Given the description of an element on the screen output the (x, y) to click on. 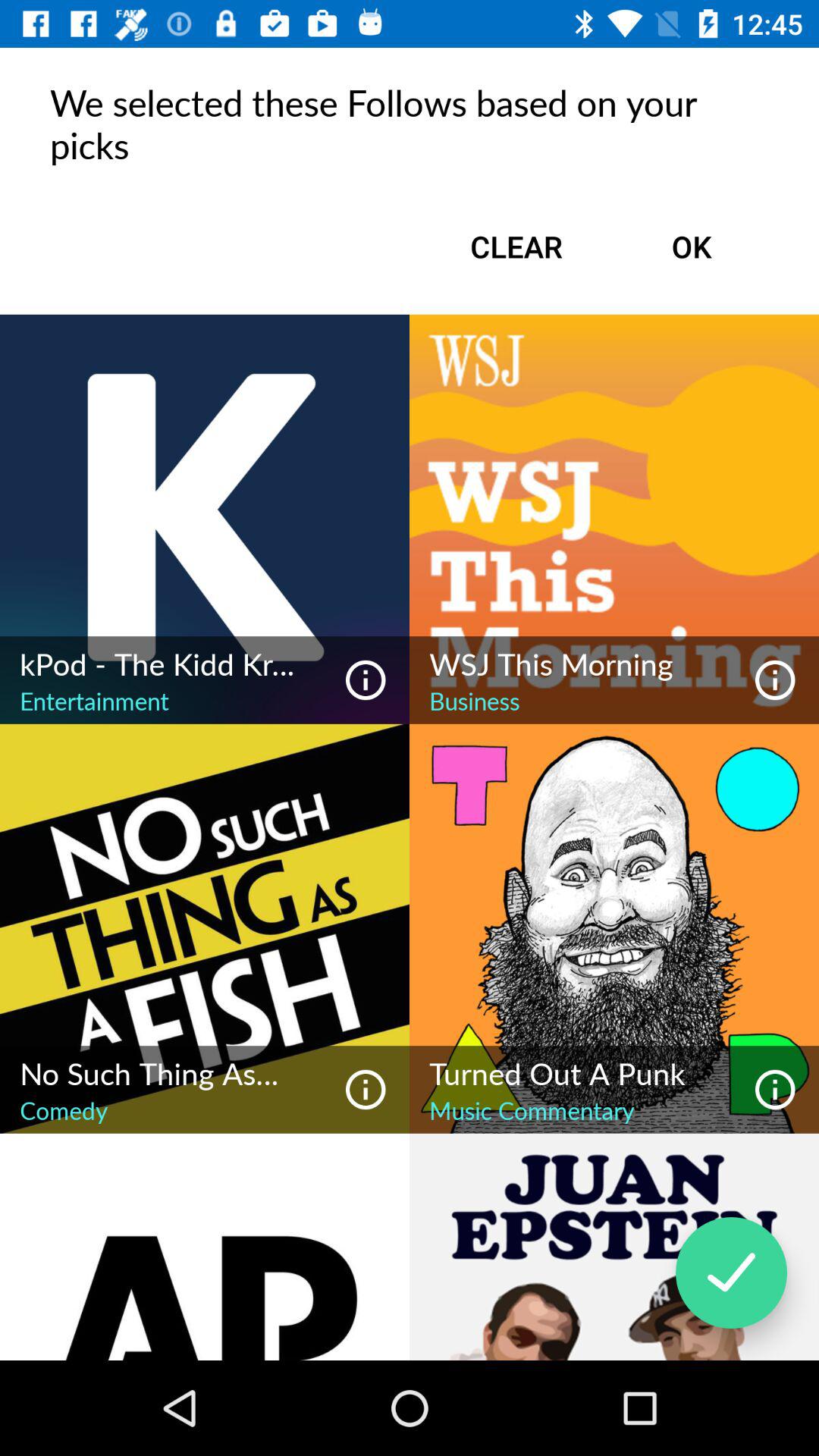
open the ok (691, 246)
